Given the description of an element on the screen output the (x, y) to click on. 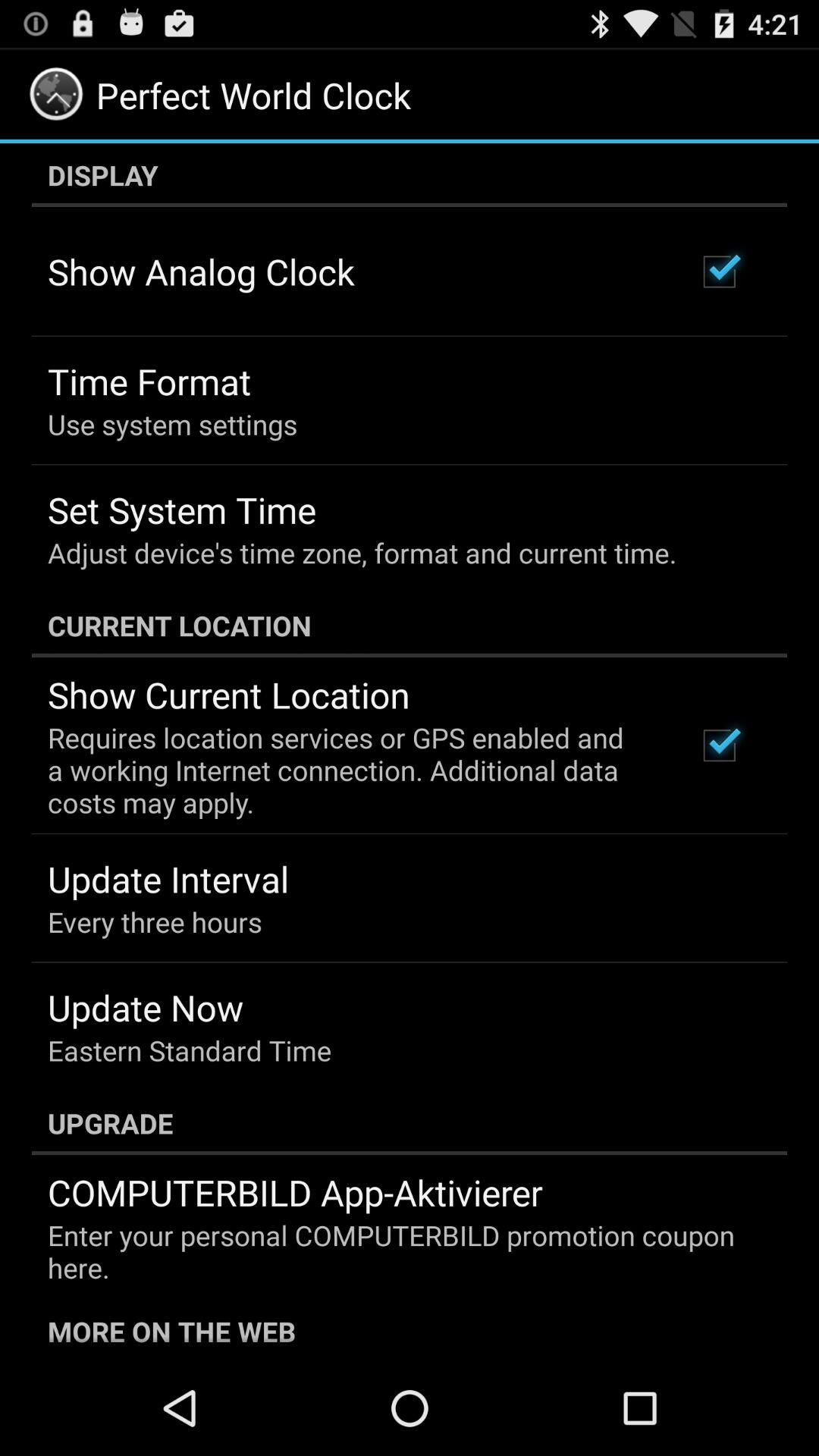
flip to the set system time icon (181, 509)
